Given the description of an element on the screen output the (x, y) to click on. 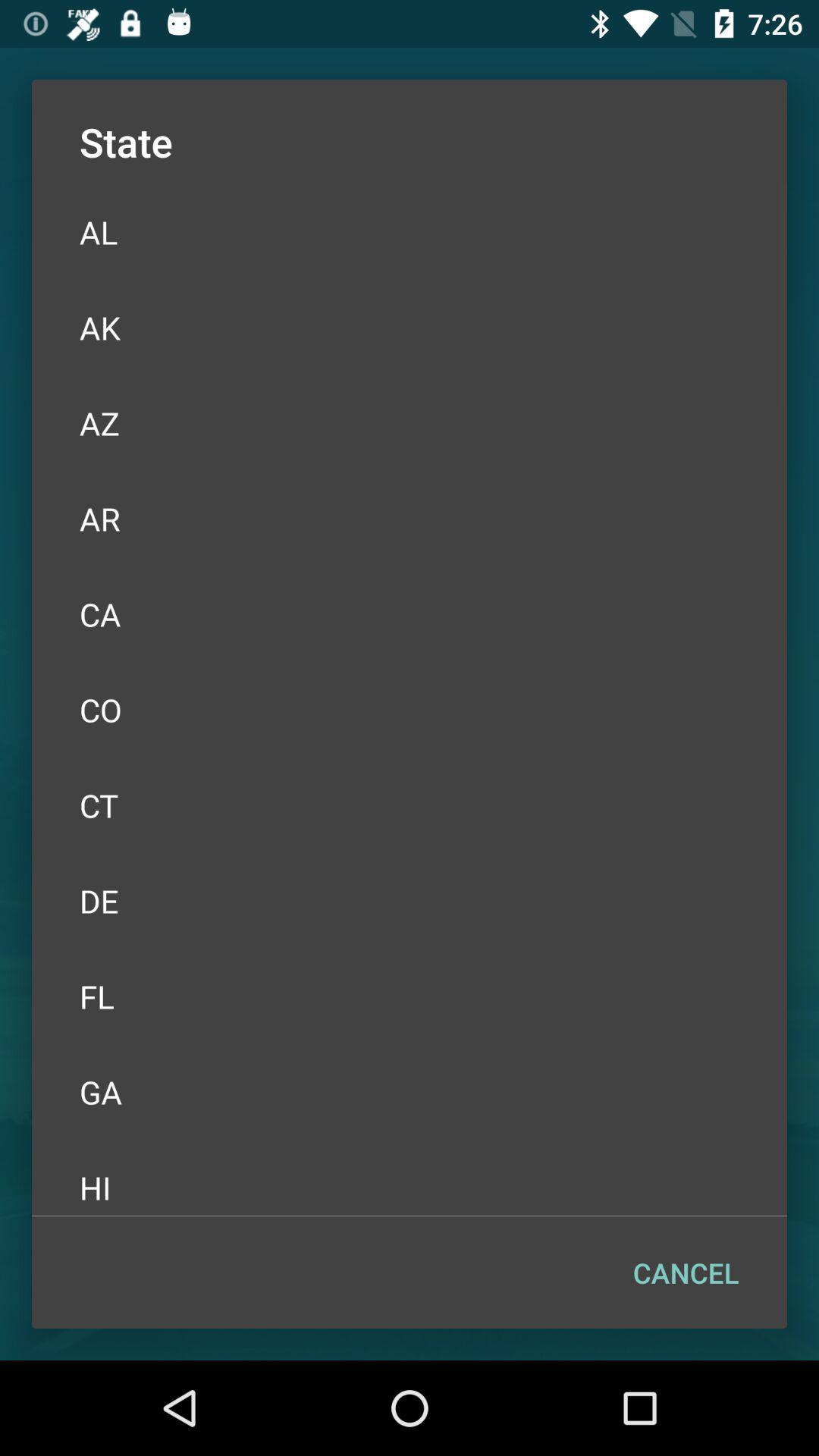
turn on the fl icon (409, 996)
